Given the description of an element on the screen output the (x, y) to click on. 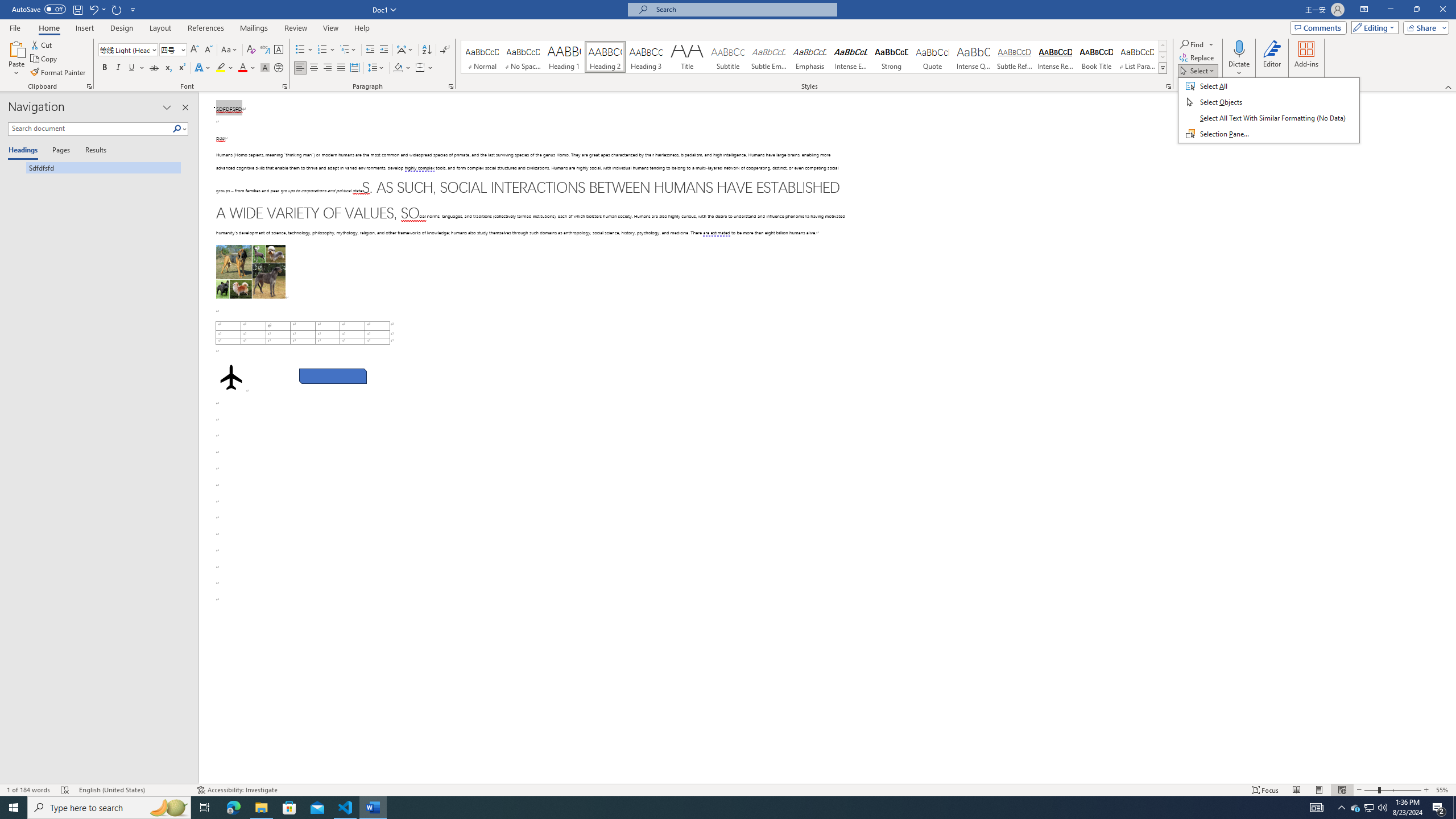
Subtle Emphasis (768, 56)
